Given the description of an element on the screen output the (x, y) to click on. 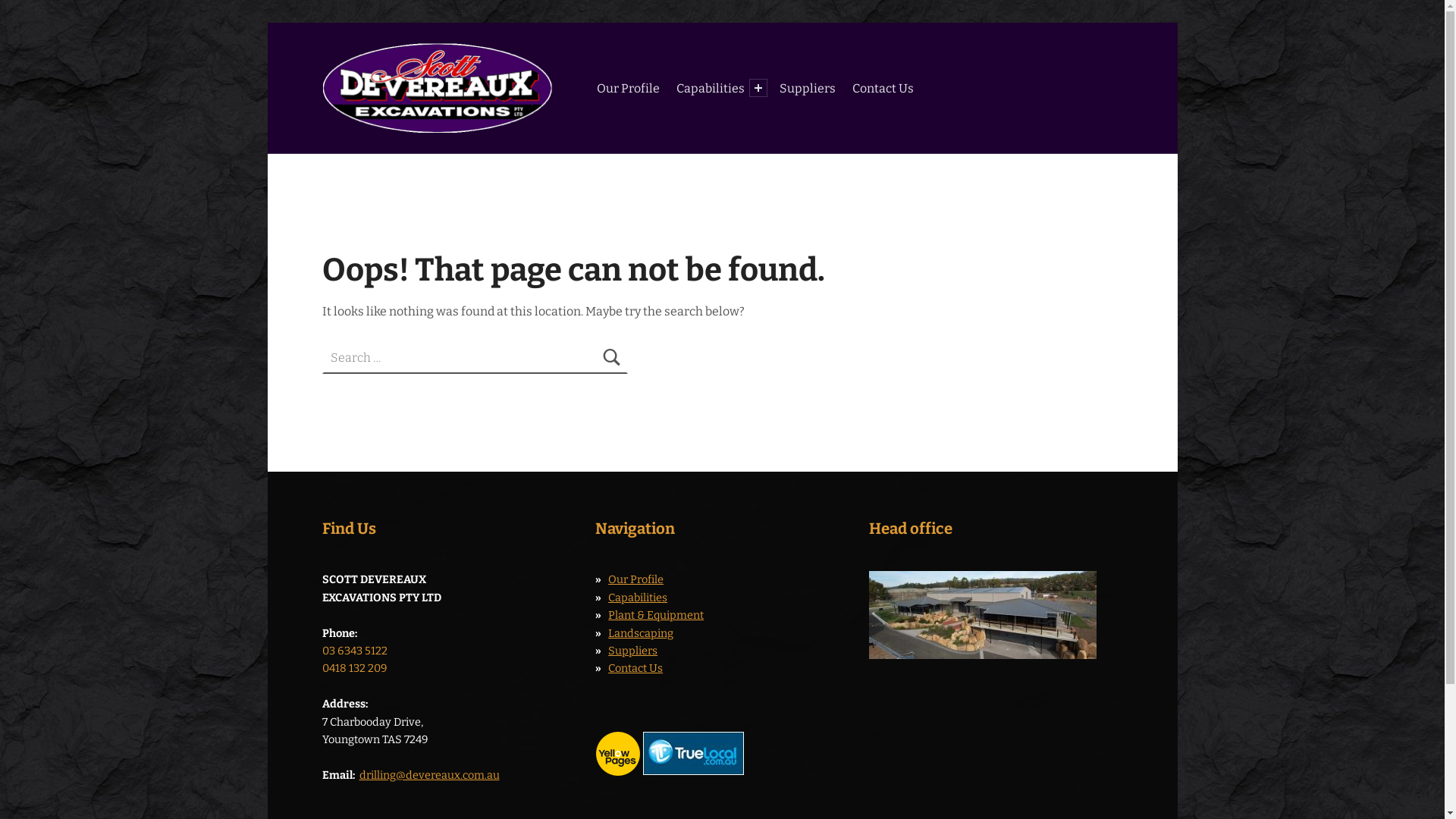
Our Profile Element type: text (635, 579)
Our Profile Element type: text (628, 87)
03 6343 5122 Element type: text (353, 650)
Skip to main navigation Element type: text (266, 21)
Contact Us Element type: text (635, 667)
drilling@devereaux.com.au Element type: text (429, 774)
Search Element type: text (611, 357)
0418 132 209 Element type: text (353, 667)
Capabilities Element type: text (637, 597)
Suppliers Element type: text (807, 87)
Capabilities Element type: text (710, 87)
Landscaping Element type: text (640, 633)
Scott Devereaux Excavations Element type: text (559, 51)
Suppliers Element type: text (632, 650)
Plant & Equipment Element type: text (655, 614)
Contact Us Element type: text (882, 87)
